Given the description of an element on the screen output the (x, y) to click on. 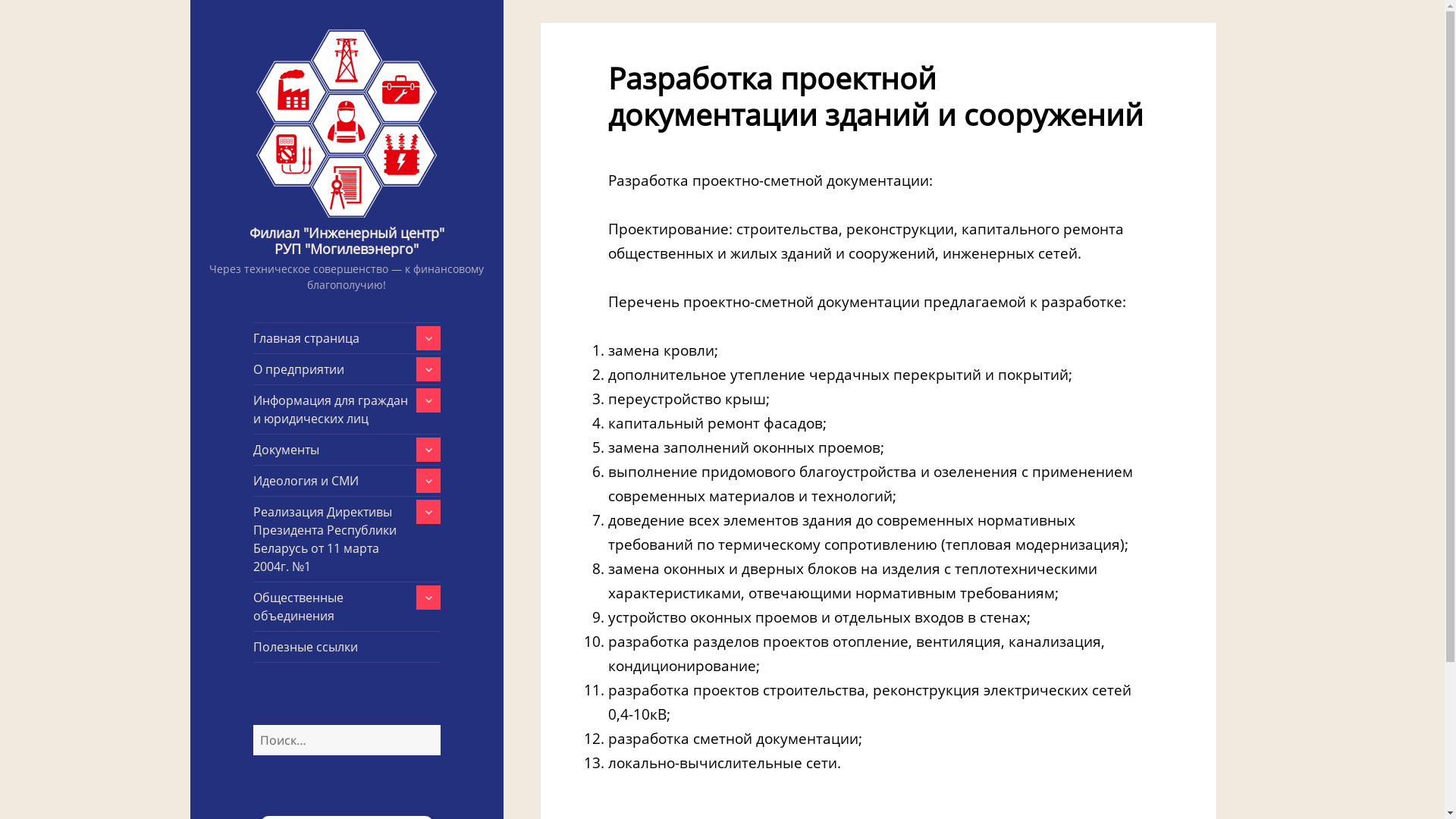
expand child menu Element type: text (428, 400)
expand child menu Element type: text (428, 511)
expand child menu Element type: text (428, 338)
expand child menu Element type: text (428, 597)
expand child menu Element type: text (428, 480)
expand child menu Element type: text (428, 369)
expand child menu Element type: text (428, 449)
